Given the description of an element on the screen output the (x, y) to click on. 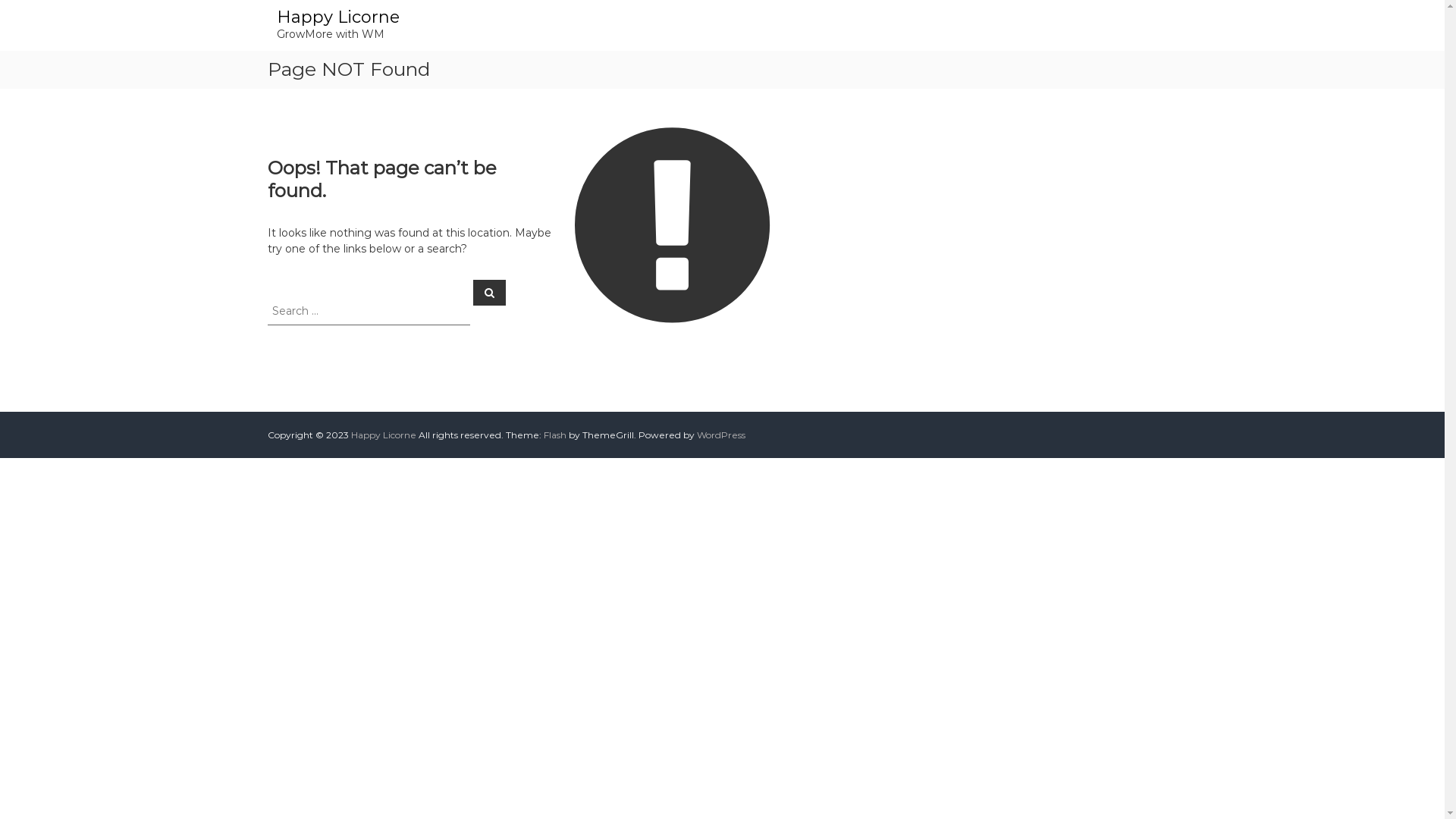
Flash Element type: text (553, 434)
Search Element type: text (489, 291)
WordPress Element type: text (720, 434)
Happy Licorne Element type: text (382, 434)
Happy Licorne Element type: text (337, 16)
